Given the description of an element on the screen output the (x, y) to click on. 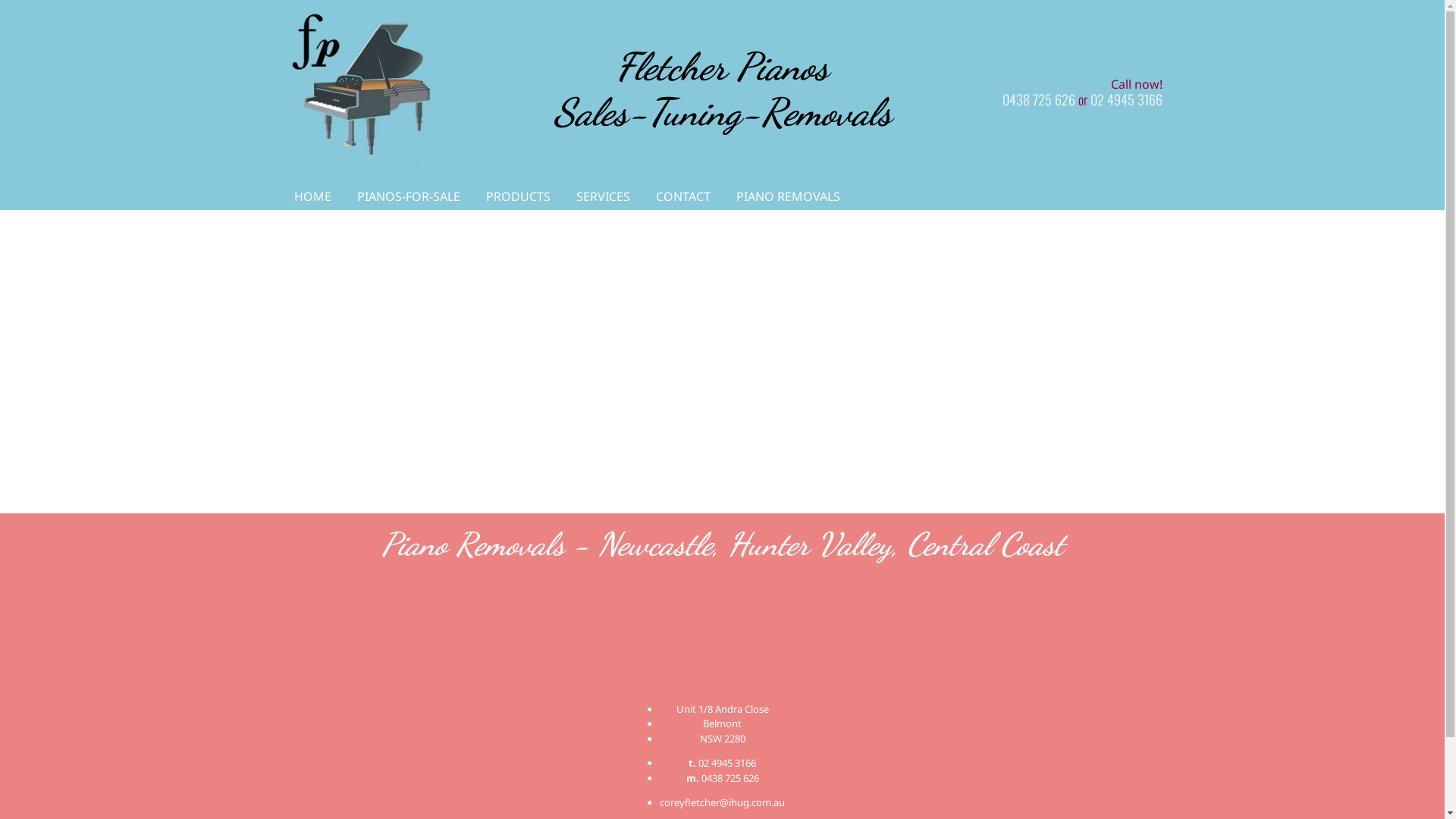
CONTACT Element type: text (682, 196)
0438 725 626 Element type: text (729, 777)
coreyfletcher@ihug.com.au Element type: text (721, 802)
PIANOS-FOR-SALE Element type: text (407, 196)
PRODUCTS Element type: text (517, 196)
0438 725 626 Element type: text (1038, 99)
SERVICES Element type: text (603, 196)
PIANO REMOVALS Element type: text (787, 196)
02 4945 3166 Element type: text (1126, 99)
02 4945 3166 Element type: text (727, 762)
HOME Element type: text (312, 196)
Fletcher Pianos main logo Element type: hover (367, 89)
